Given the description of an element on the screen output the (x, y) to click on. 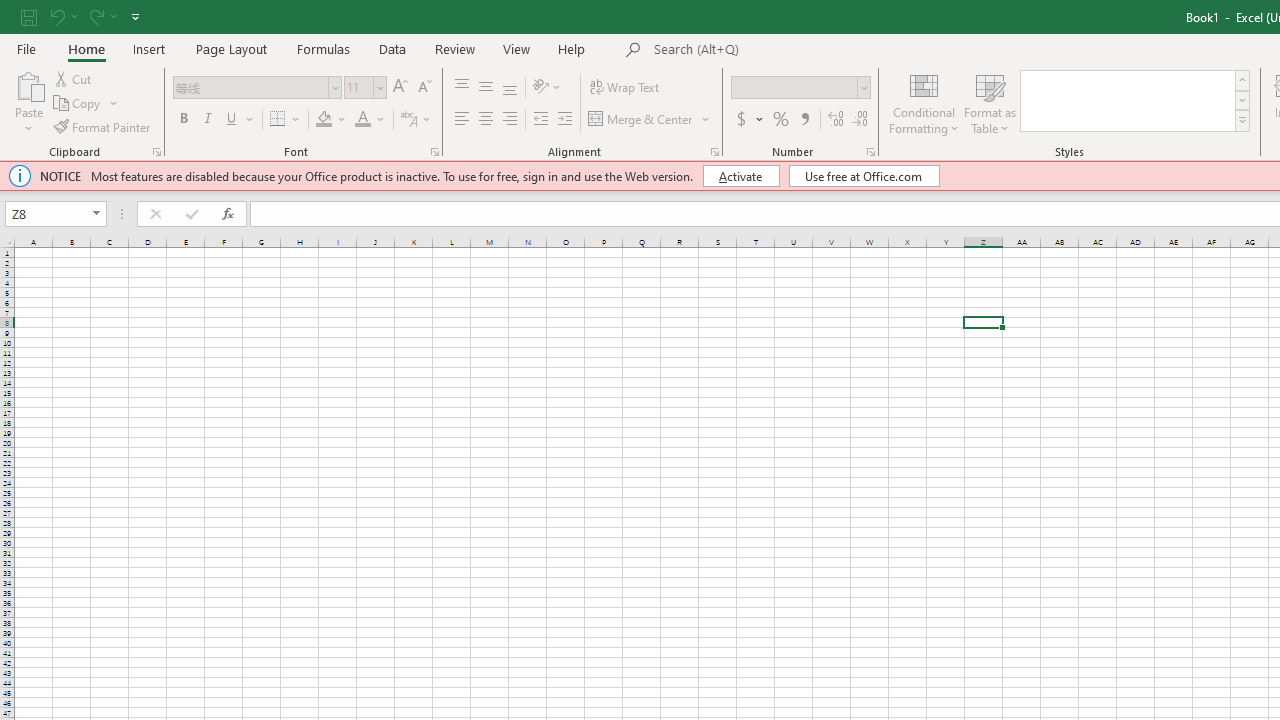
Copy (78, 103)
Format Cell Alignment (714, 151)
Top Align (461, 87)
Font Size (358, 87)
Office Clipboard... (156, 151)
Copy (85, 103)
Font Color (370, 119)
Underline (232, 119)
Format Cell Font (434, 151)
